Given the description of an element on the screen output the (x, y) to click on. 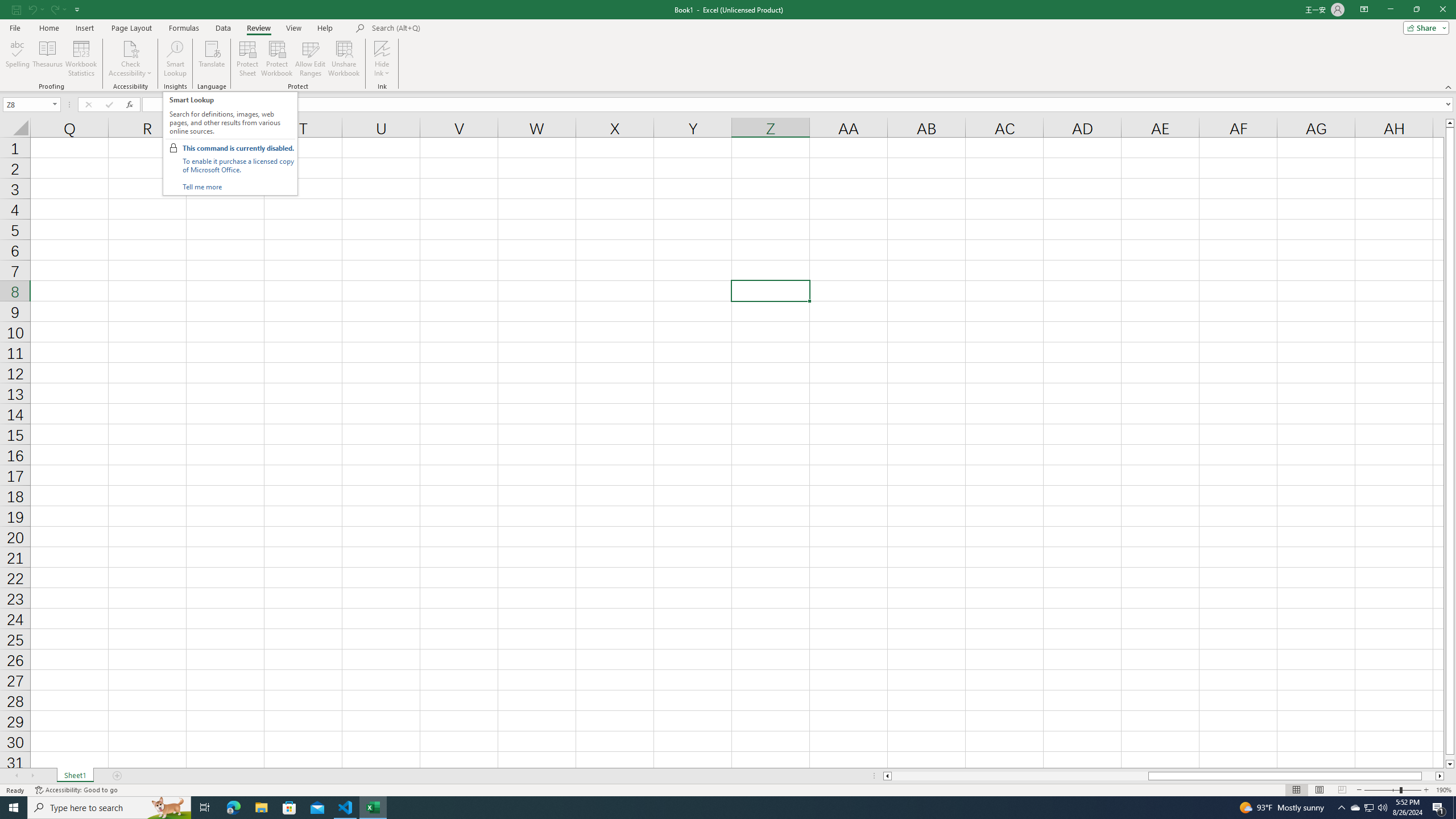
Translate (211, 58)
Check Accessibility (129, 58)
Page left (1019, 775)
